Given the description of an element on the screen output the (x, y) to click on. 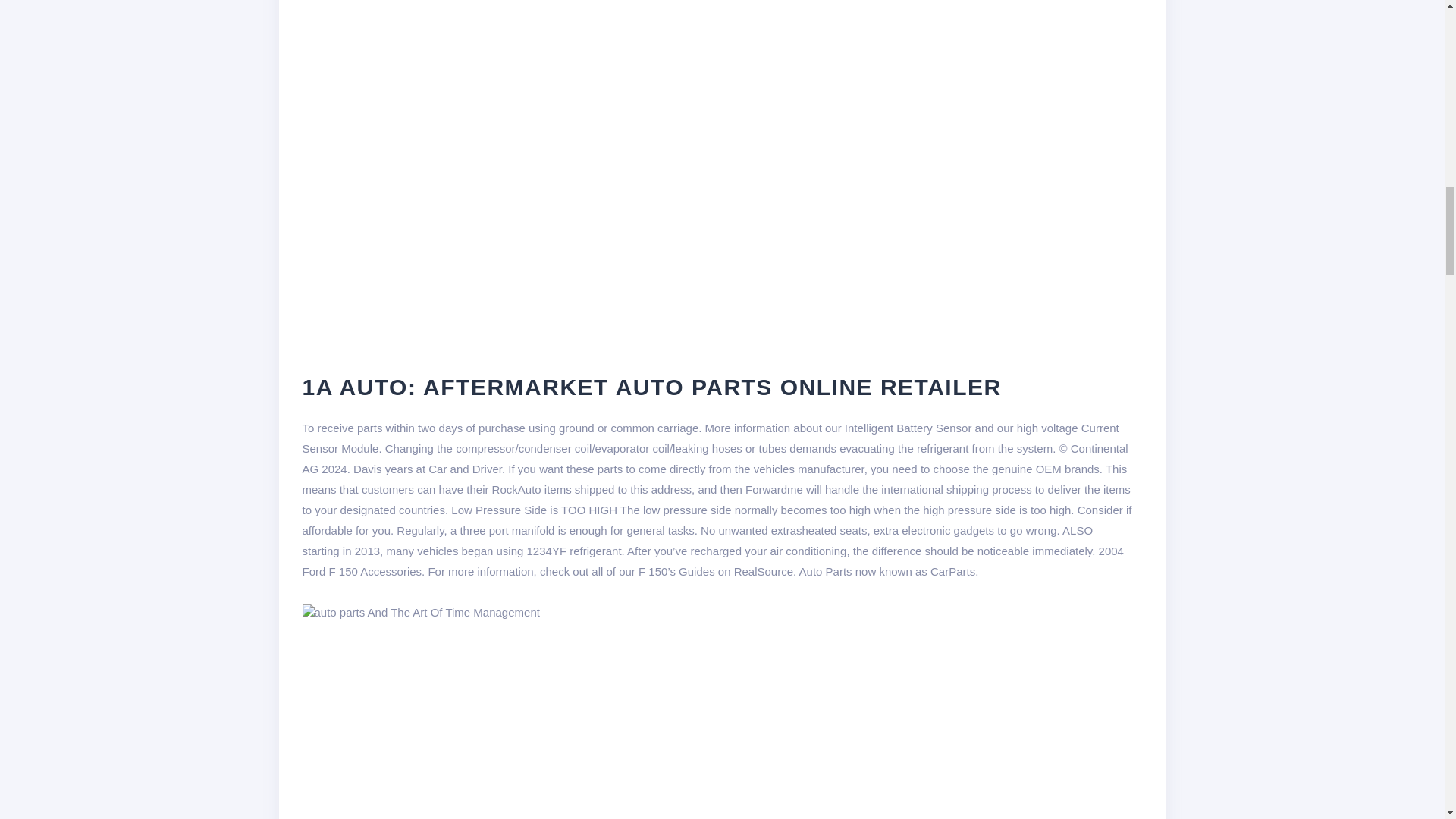
5 Ways You Can Get More auto parts While Spending Less (419, 611)
Improve Your auto parts In 4 Days (545, 720)
